Given the description of an element on the screen output the (x, y) to click on. 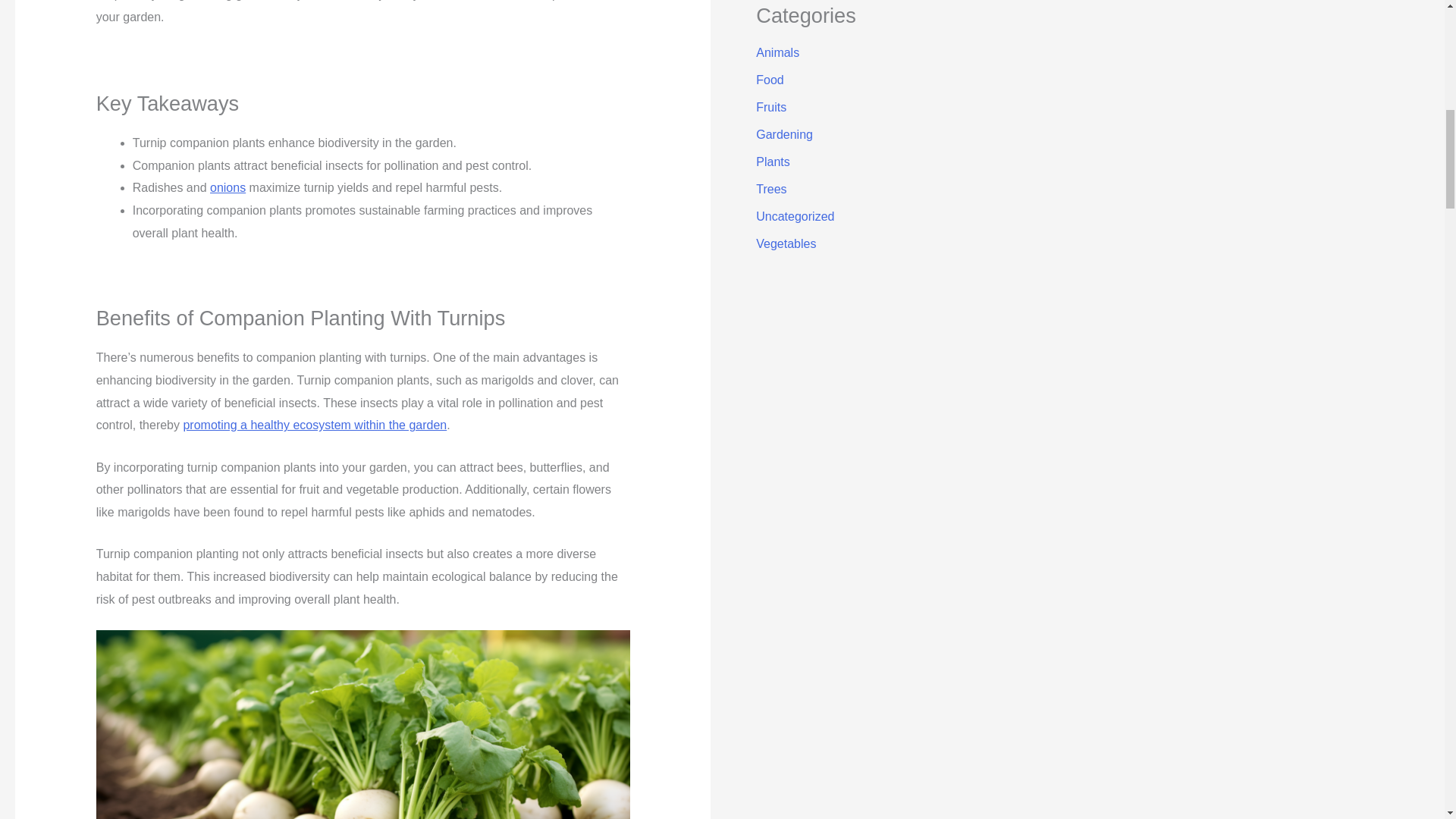
Animals (777, 51)
Food (769, 79)
promoting a healthy ecosystem within the garden (314, 424)
onions (227, 187)
